Given the description of an element on the screen output the (x, y) to click on. 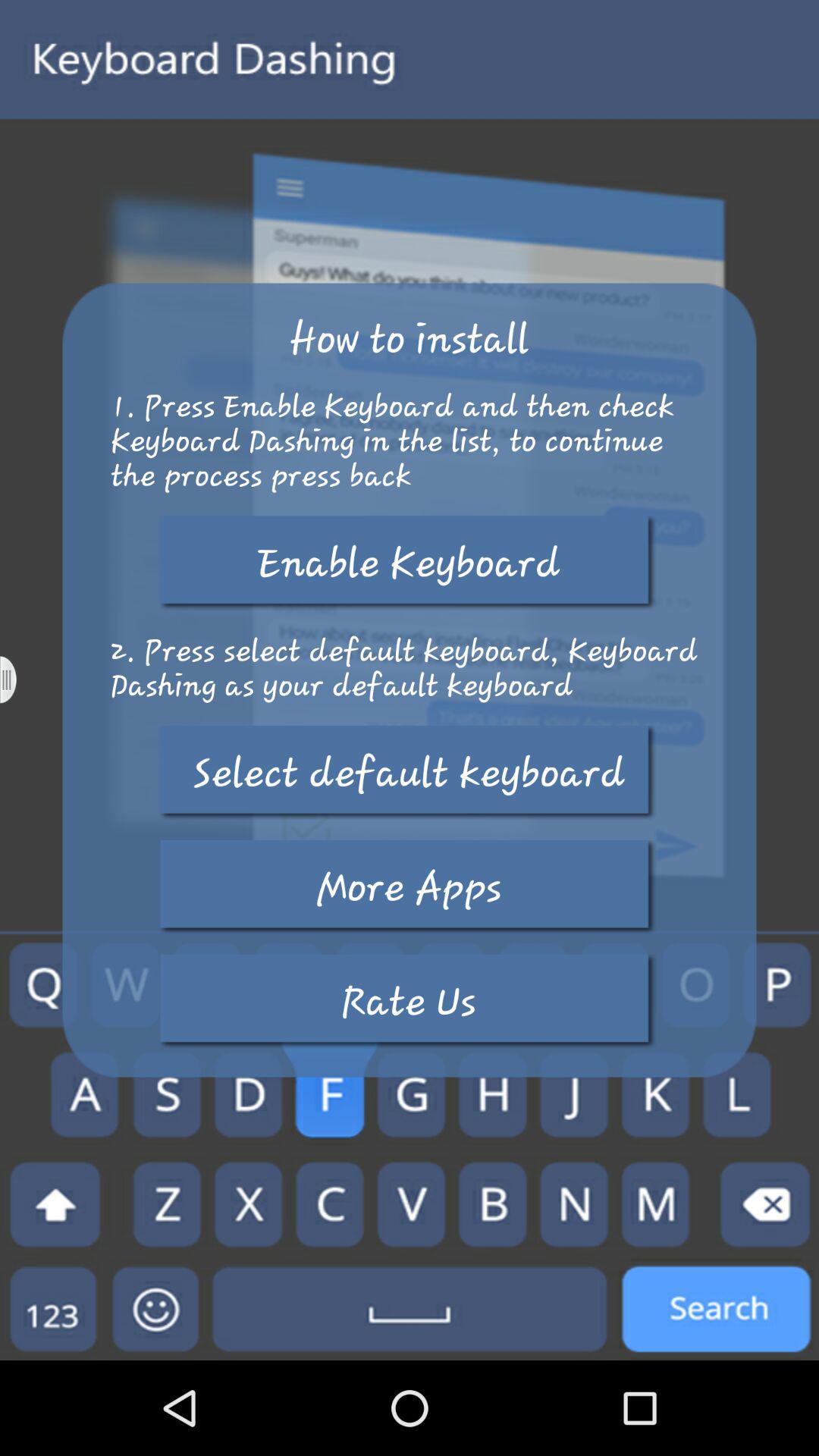
open settings panel (18, 679)
